Given the description of an element on the screen output the (x, y) to click on. 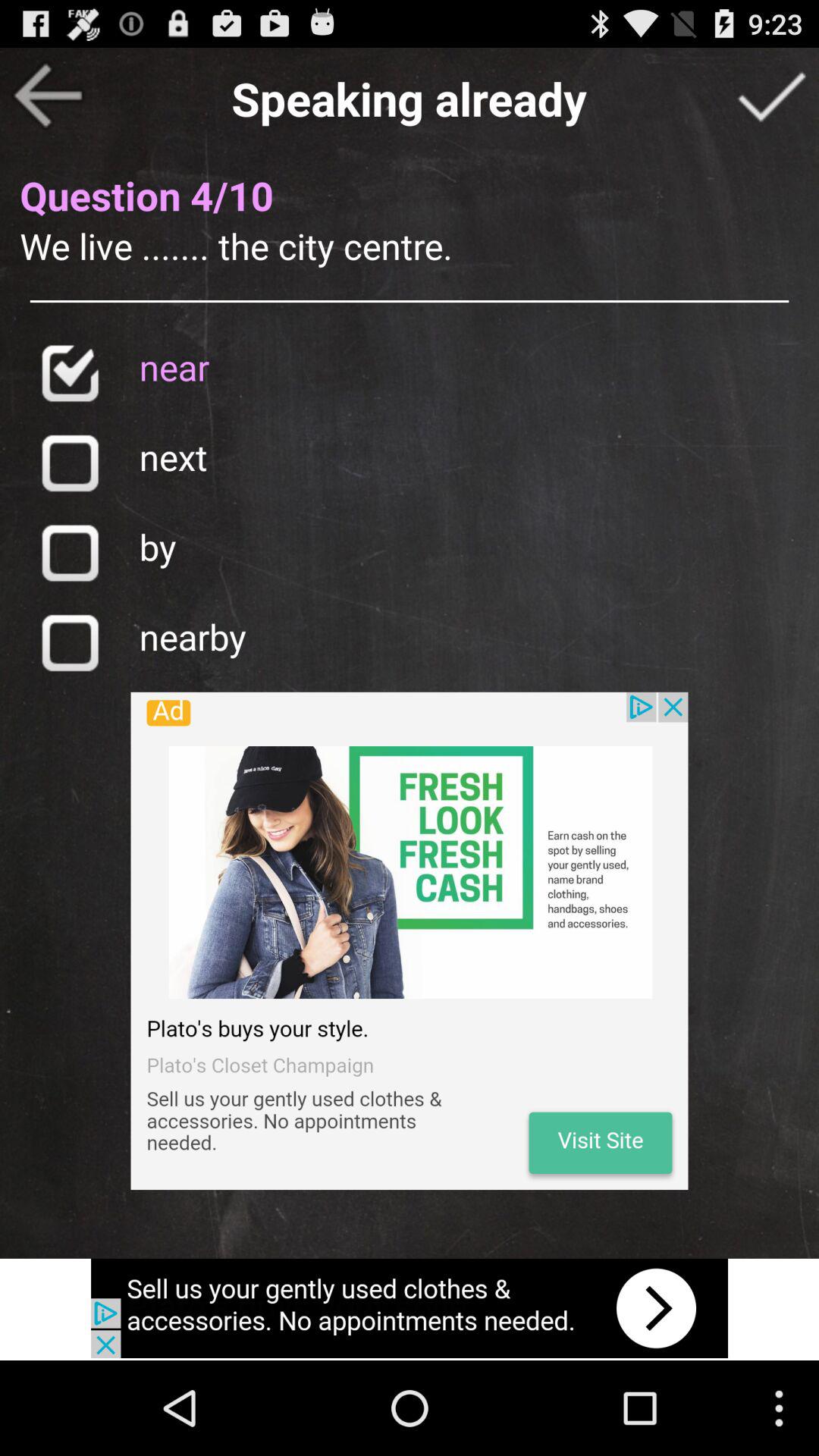
select next (69, 462)
